Given the description of an element on the screen output the (x, y) to click on. 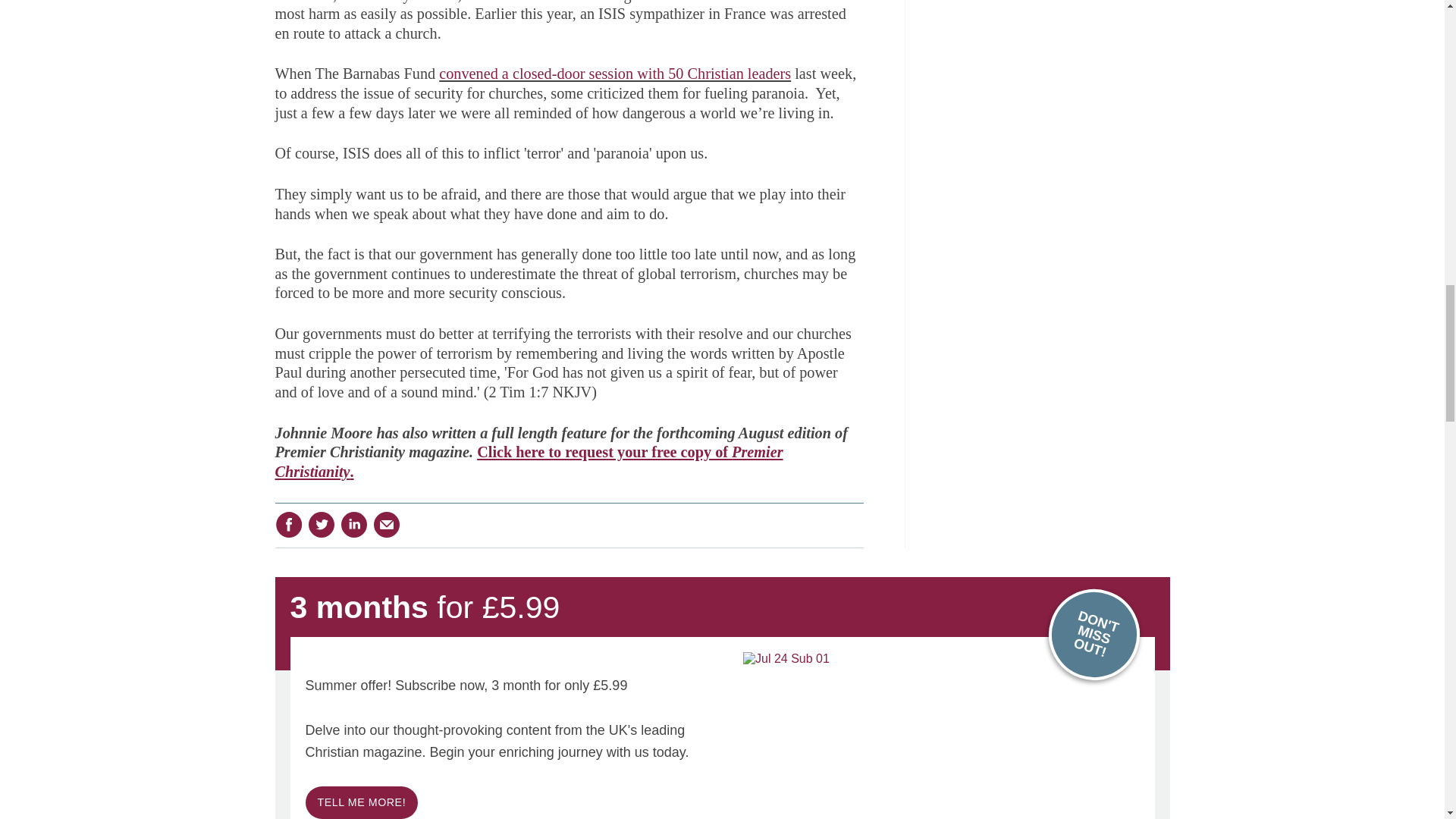
Share this on Linked in (352, 524)
Share this on Twitter (320, 524)
Email this article (386, 524)
Share this on Facebook (288, 524)
